Given the description of an element on the screen output the (x, y) to click on. 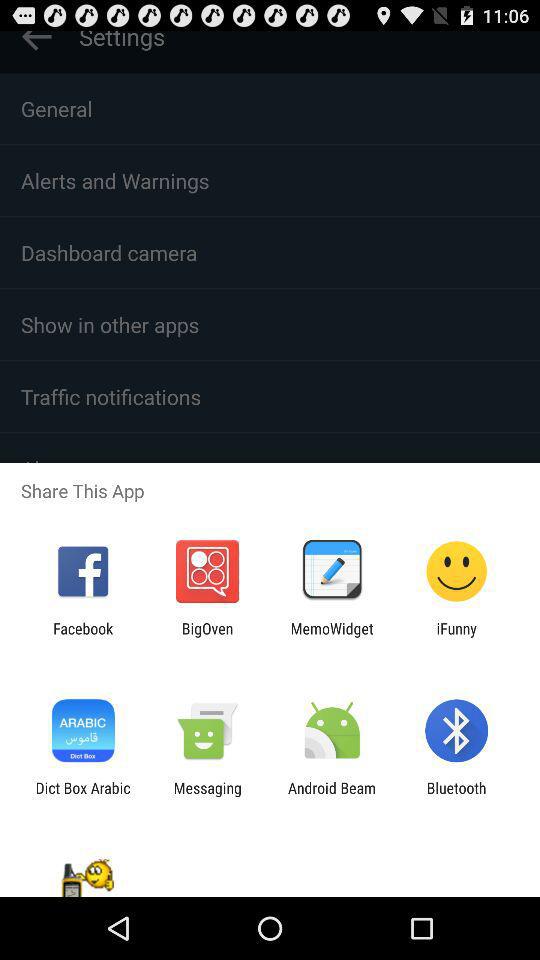
select the facebook app (83, 637)
